Given the description of an element on the screen output the (x, y) to click on. 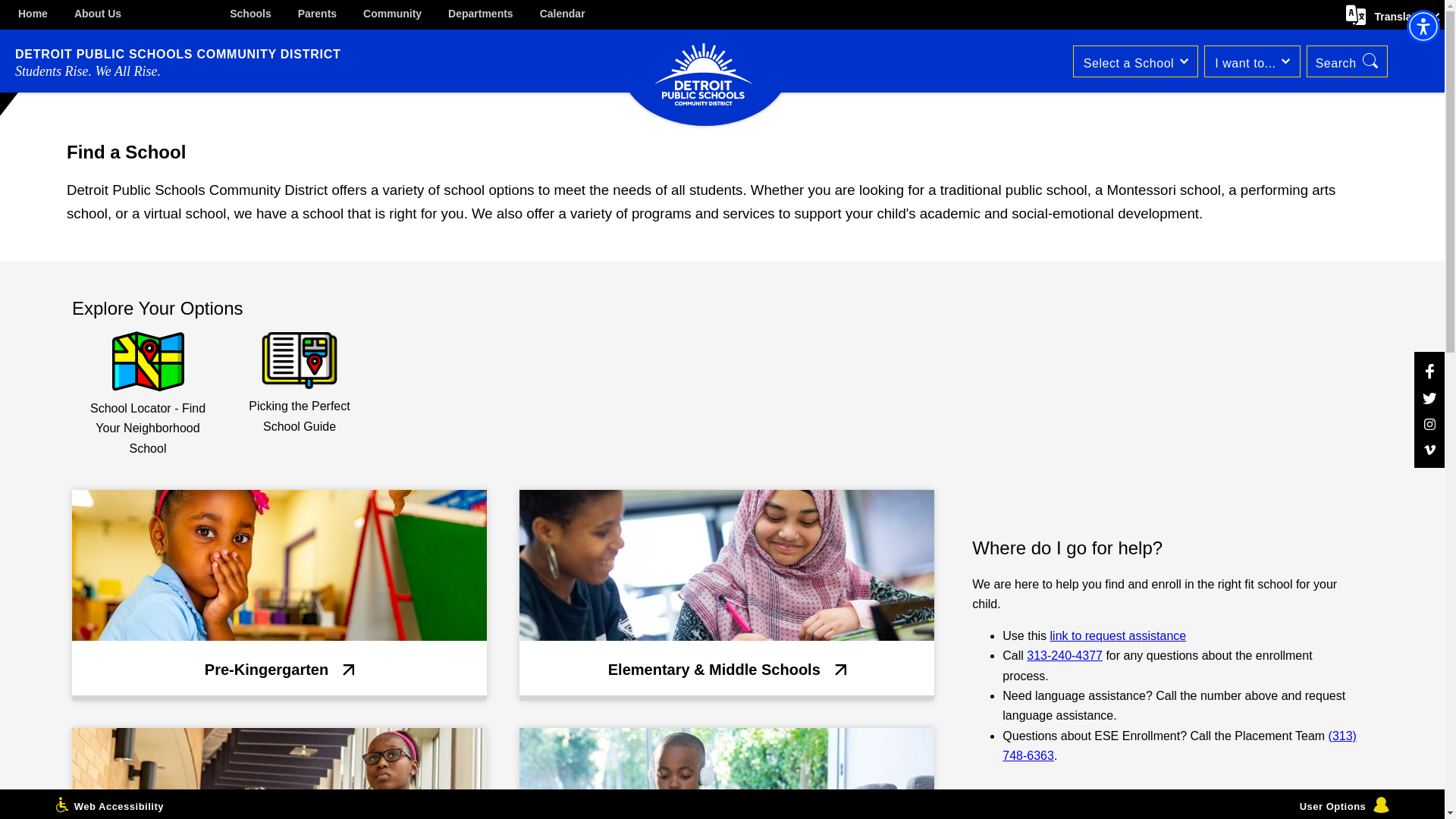
YouTube video player (1165, 406)
Accessibility Menu (1422, 26)
